Given the description of an element on the screen output the (x, y) to click on. 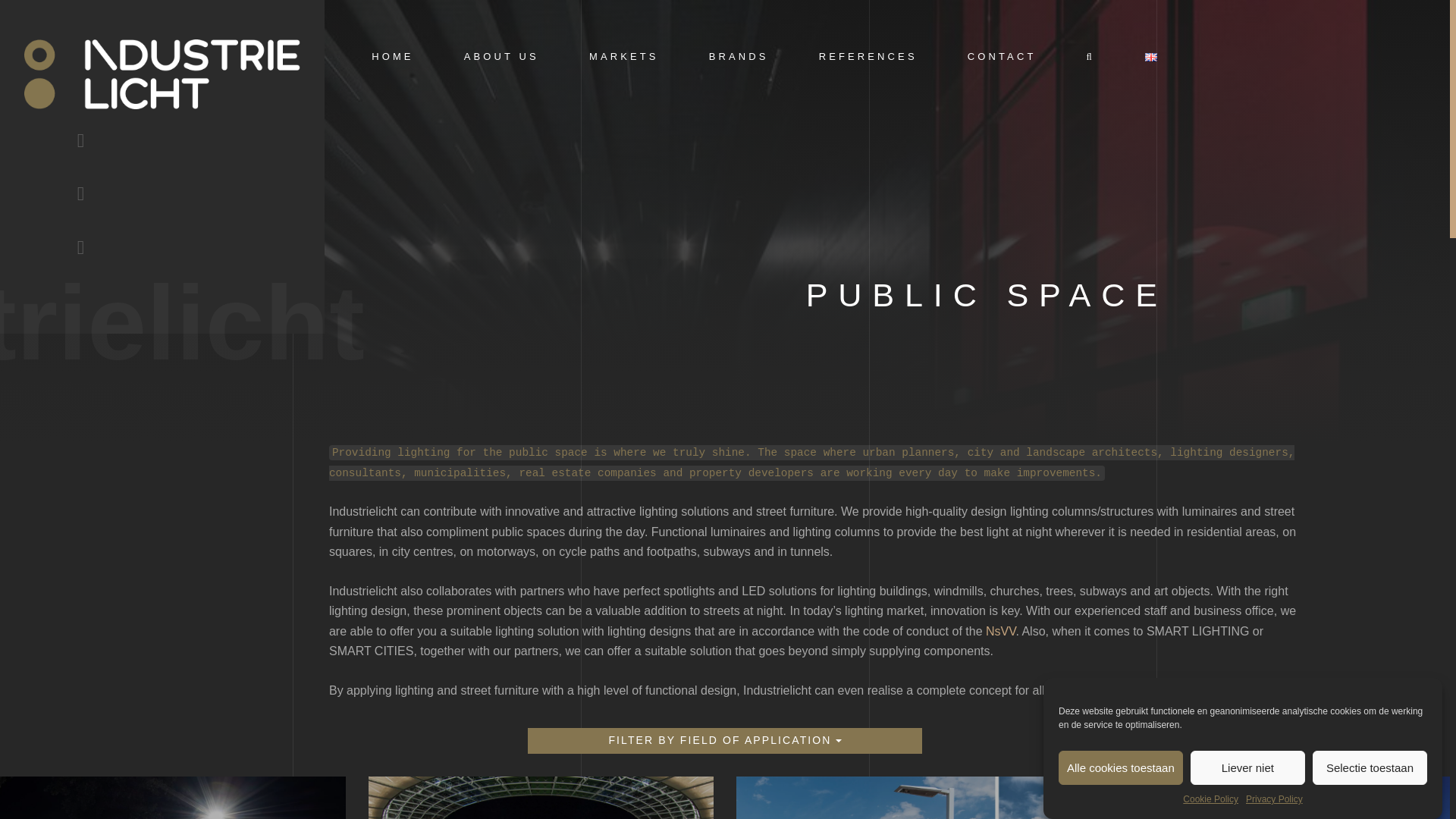
ABOUT US (501, 56)
BRANDS (738, 56)
REFERENCES (867, 56)
MARKETS (624, 56)
CONTACT (1002, 56)
HOME (392, 56)
